Given the description of an element on the screen output the (x, y) to click on. 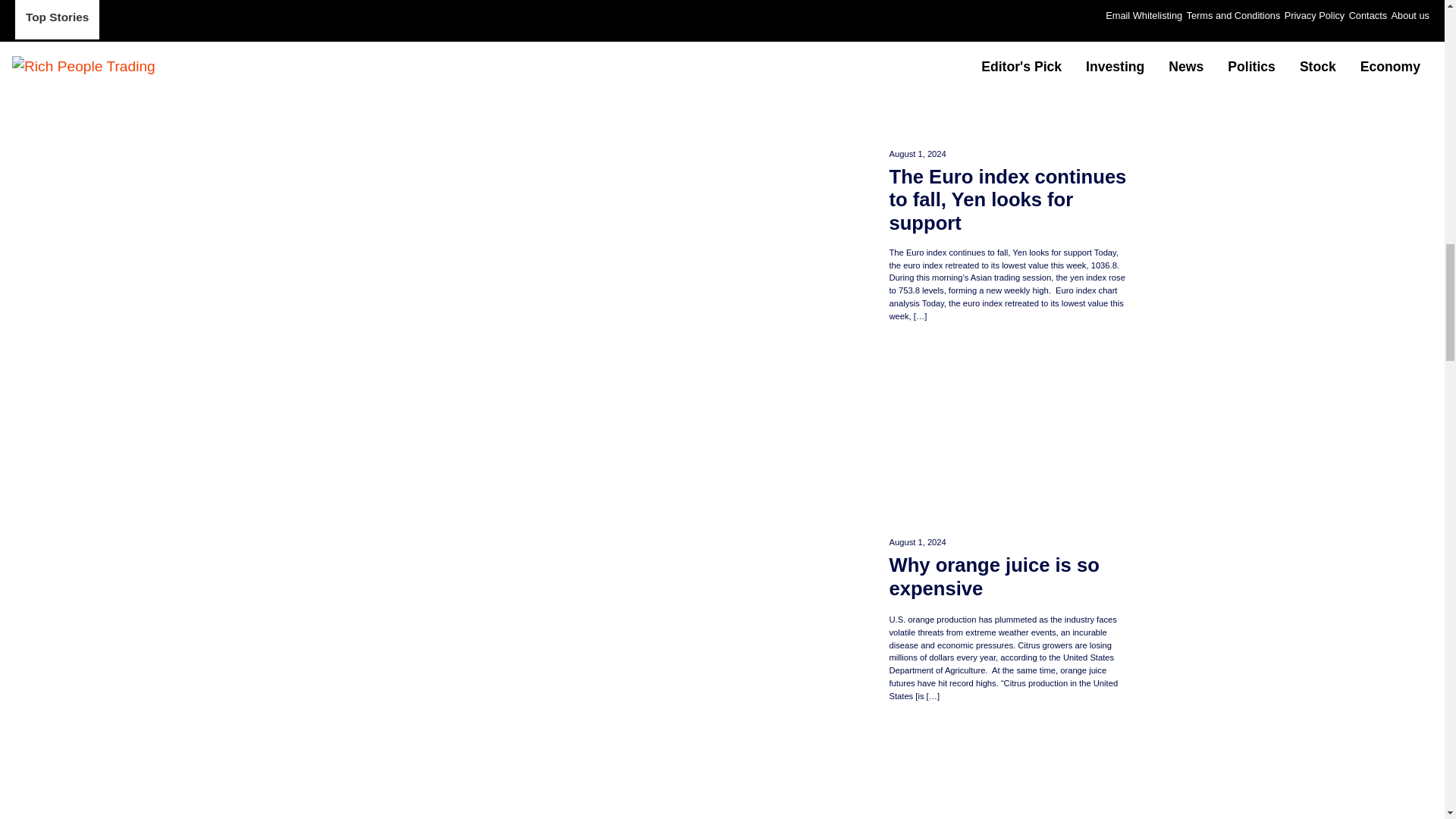
The Euro index continues to fall, Yen looks for support (1009, 67)
The Euro index continues to fall, Yen looks for support (1009, 200)
EURGBP and EURCHF: EURCHF is going lower and lower (1009, 770)
Why orange juice is so expensive (1009, 433)
The Euro index continues to fall, Yen looks for support (1009, 200)
Why orange juice is so expensive (1009, 577)
Why orange juice is so expensive (1009, 577)
